Given the description of an element on the screen output the (x, y) to click on. 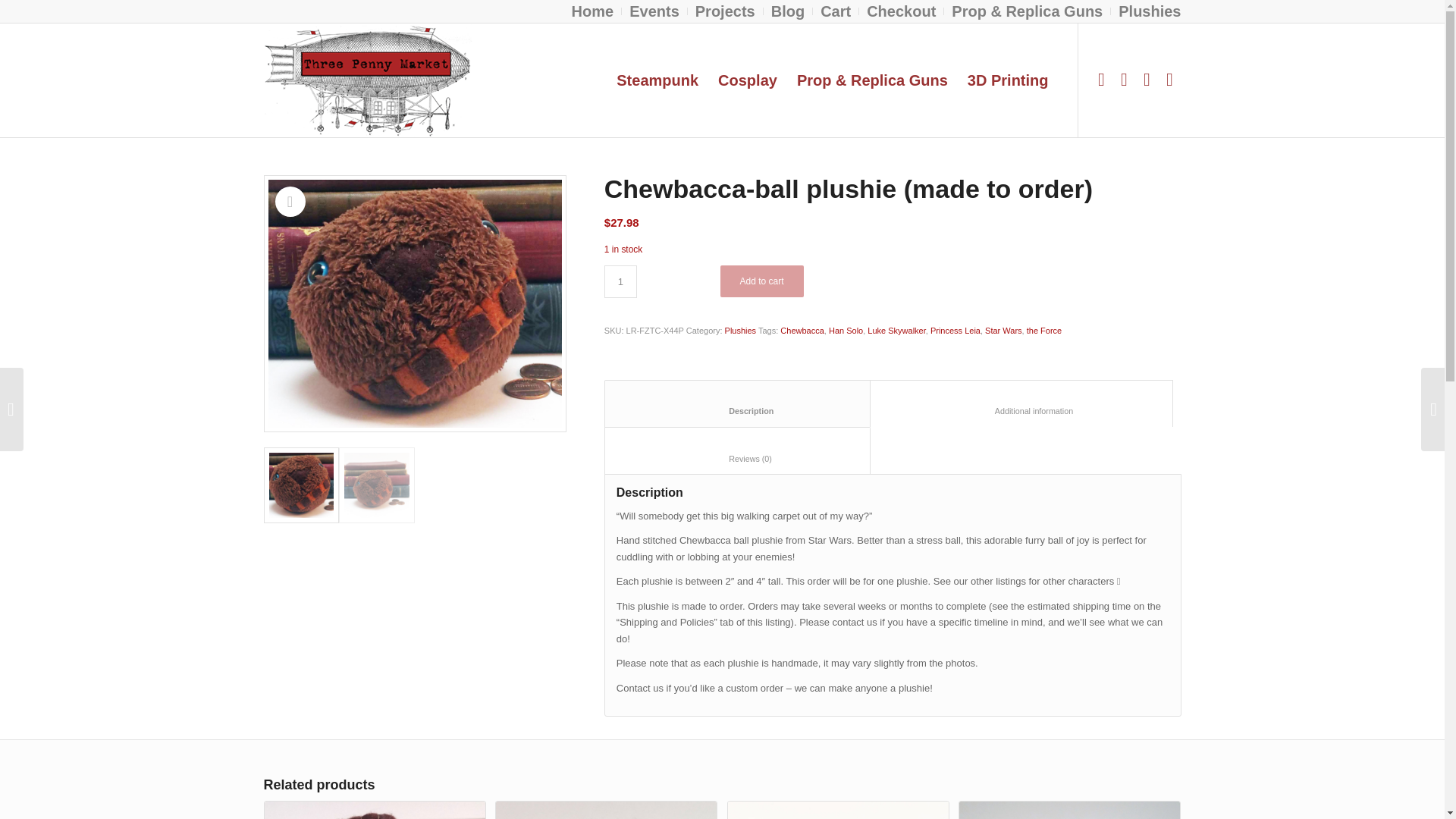
Star Wars (1003, 329)
Plushies (741, 329)
Pinterest (1169, 78)
1 (620, 281)
Princess Leia (954, 329)
Qty (620, 281)
Facebook (1101, 78)
Add to cart (761, 281)
Plushies (1149, 12)
      Additional information      (1020, 403)
